Given the description of an element on the screen output the (x, y) to click on. 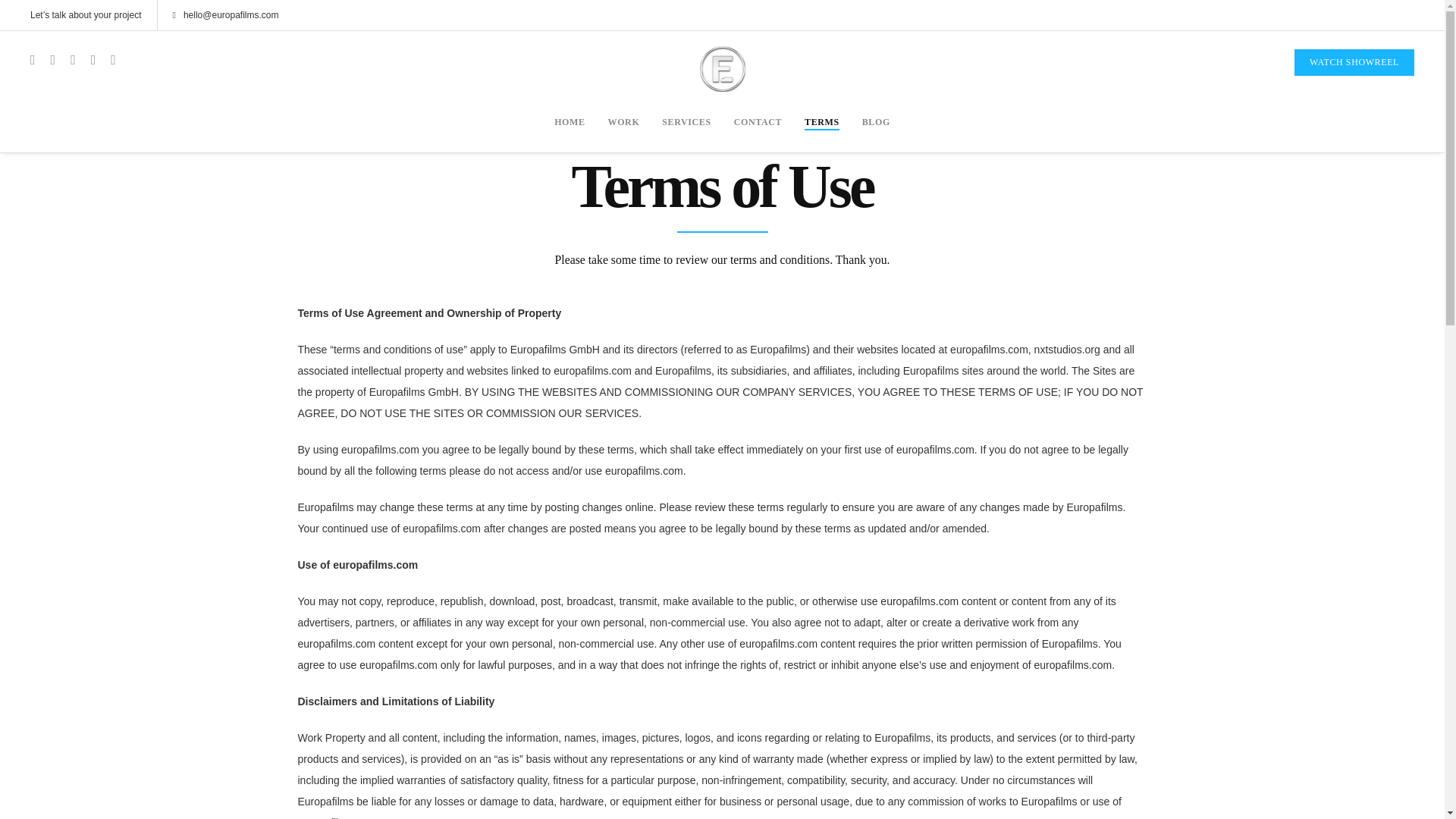
Hello Europafilms (226, 15)
WATCH SHOWREEL (1353, 62)
showreel (1353, 62)
